Given the description of an element on the screen output the (x, y) to click on. 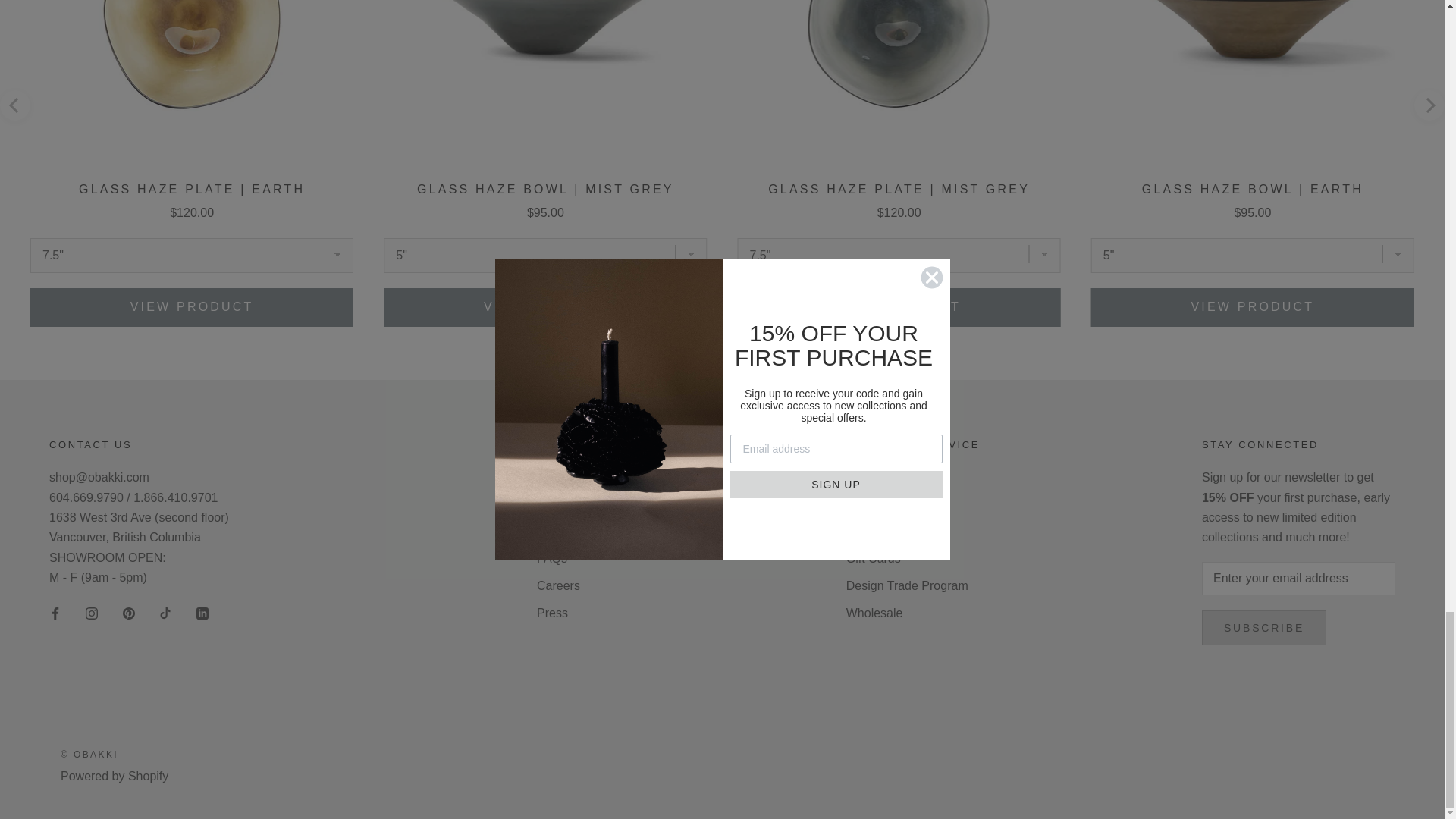
Select product variant (897, 255)
Select product variant (1251, 255)
Select product variant (545, 255)
Select product variant (191, 255)
